Given the description of an element on the screen output the (x, y) to click on. 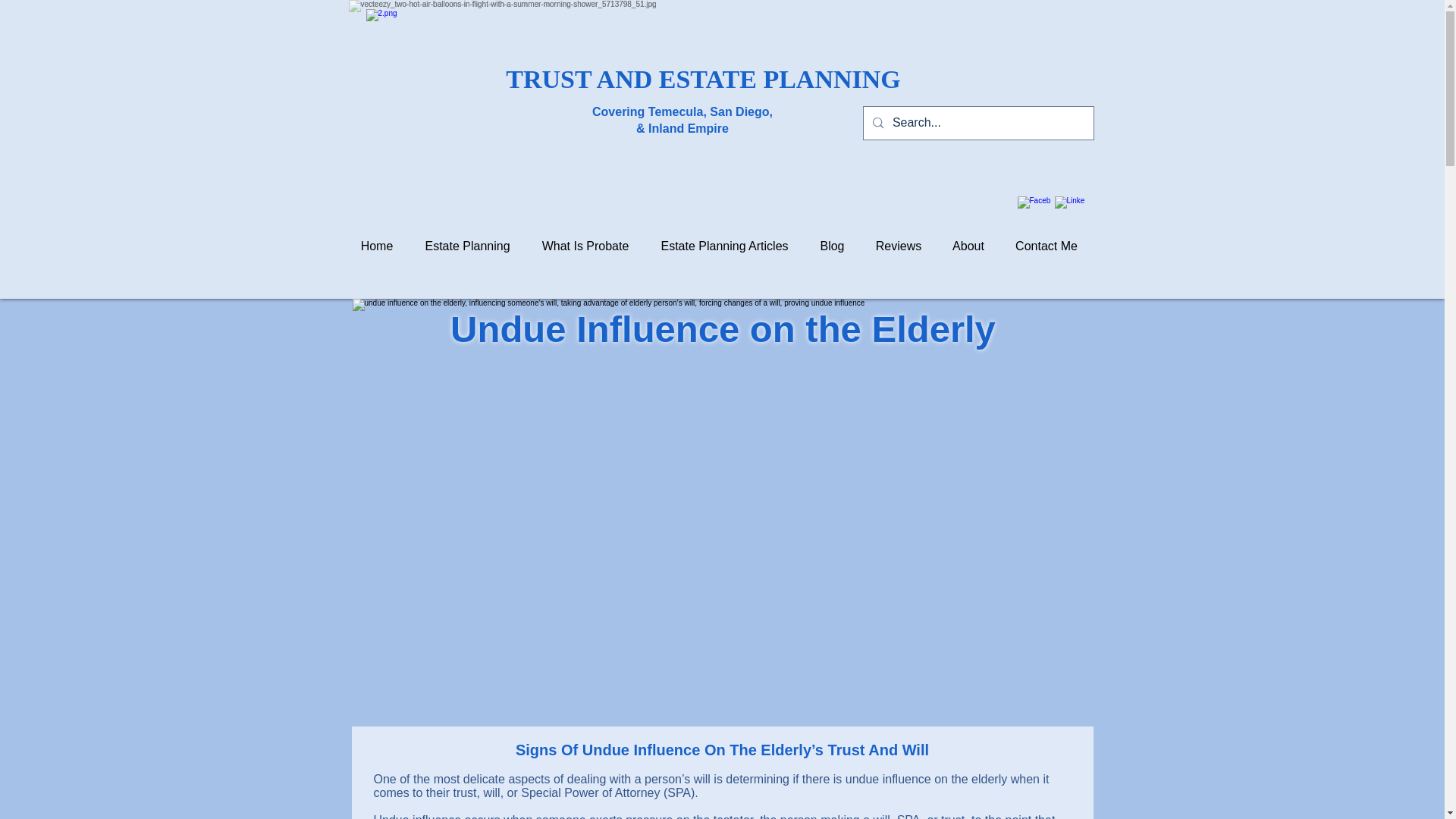
What Is Probate (585, 246)
About (968, 246)
Home (376, 246)
Blog (831, 246)
Estate Planning Articles (724, 246)
Reviews (898, 246)
Estate Planning (467, 246)
Contact Me (1045, 246)
